Given the description of an element on the screen output the (x, y) to click on. 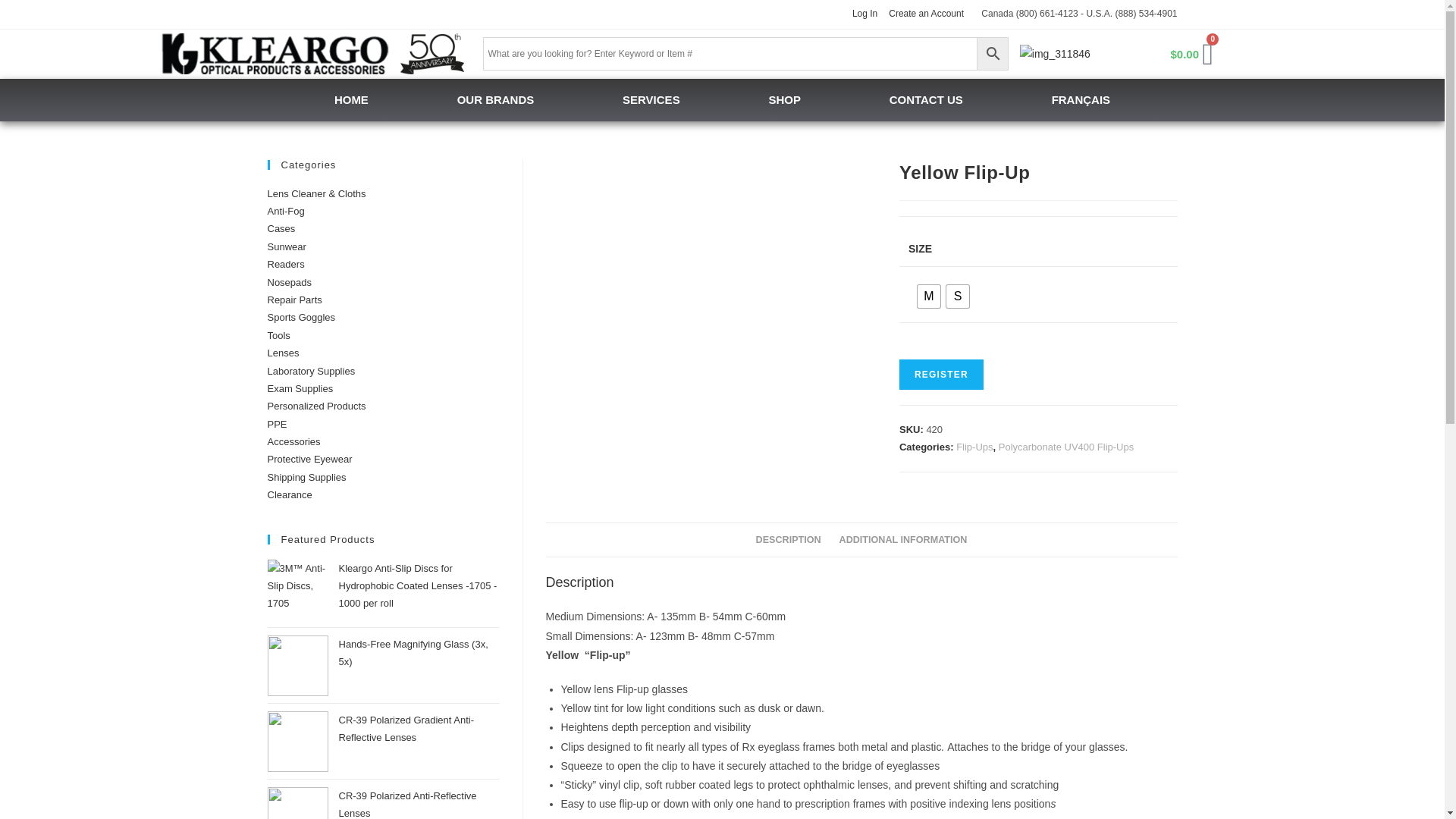
Log In (864, 13)
HOME (350, 99)
S (957, 296)
Create an Account (925, 13)
OUR BRANDS (495, 99)
SERVICES (650, 99)
SHOP (783, 99)
M (928, 296)
